Given the description of an element on the screen output the (x, y) to click on. 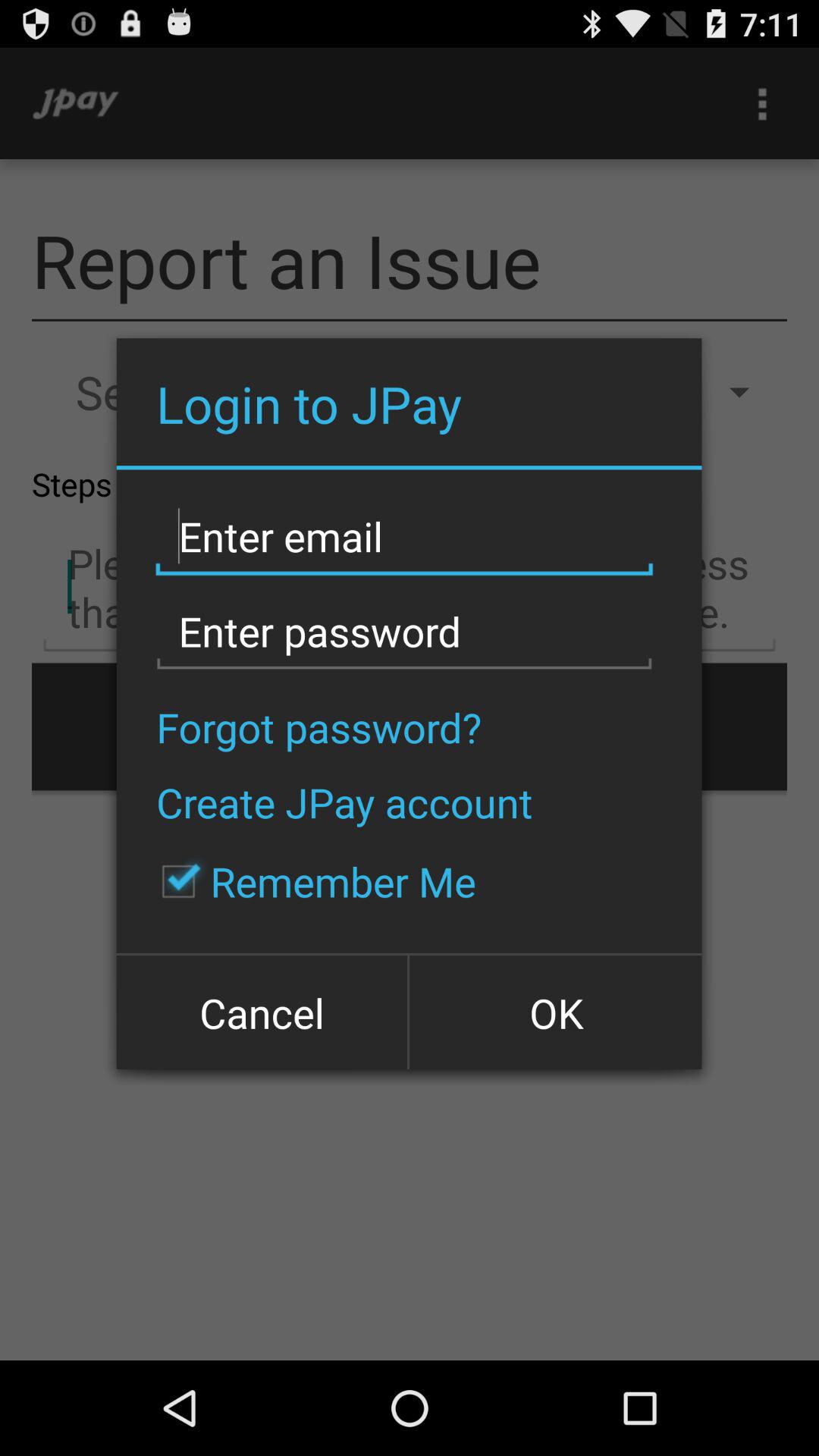
launch item above cancel item (311, 881)
